Given the description of an element on the screen output the (x, y) to click on. 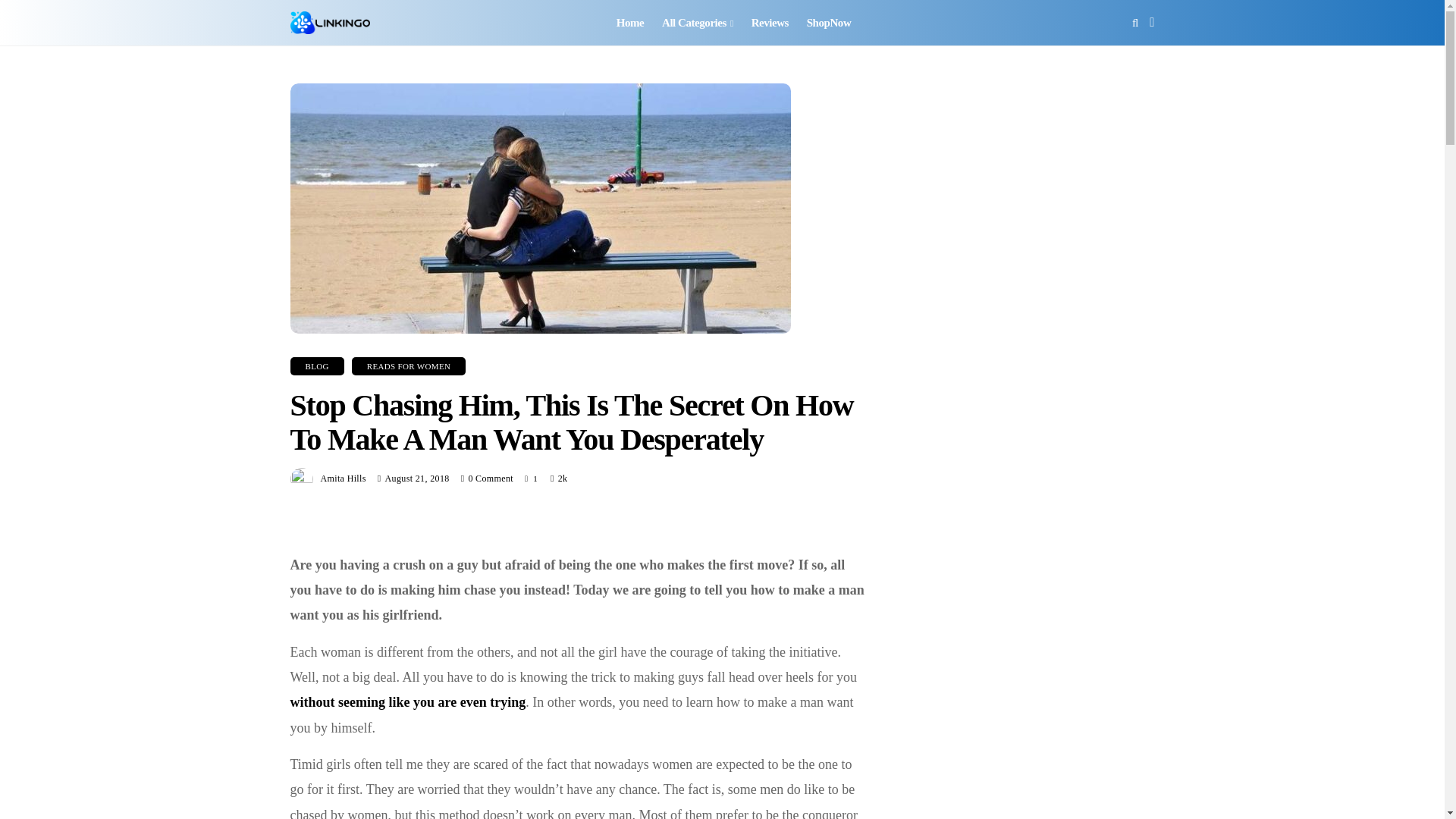
All Categories (697, 22)
Like (531, 478)
Posts by Amita Hills (342, 478)
shopnow (828, 22)
